Given the description of an element on the screen output the (x, y) to click on. 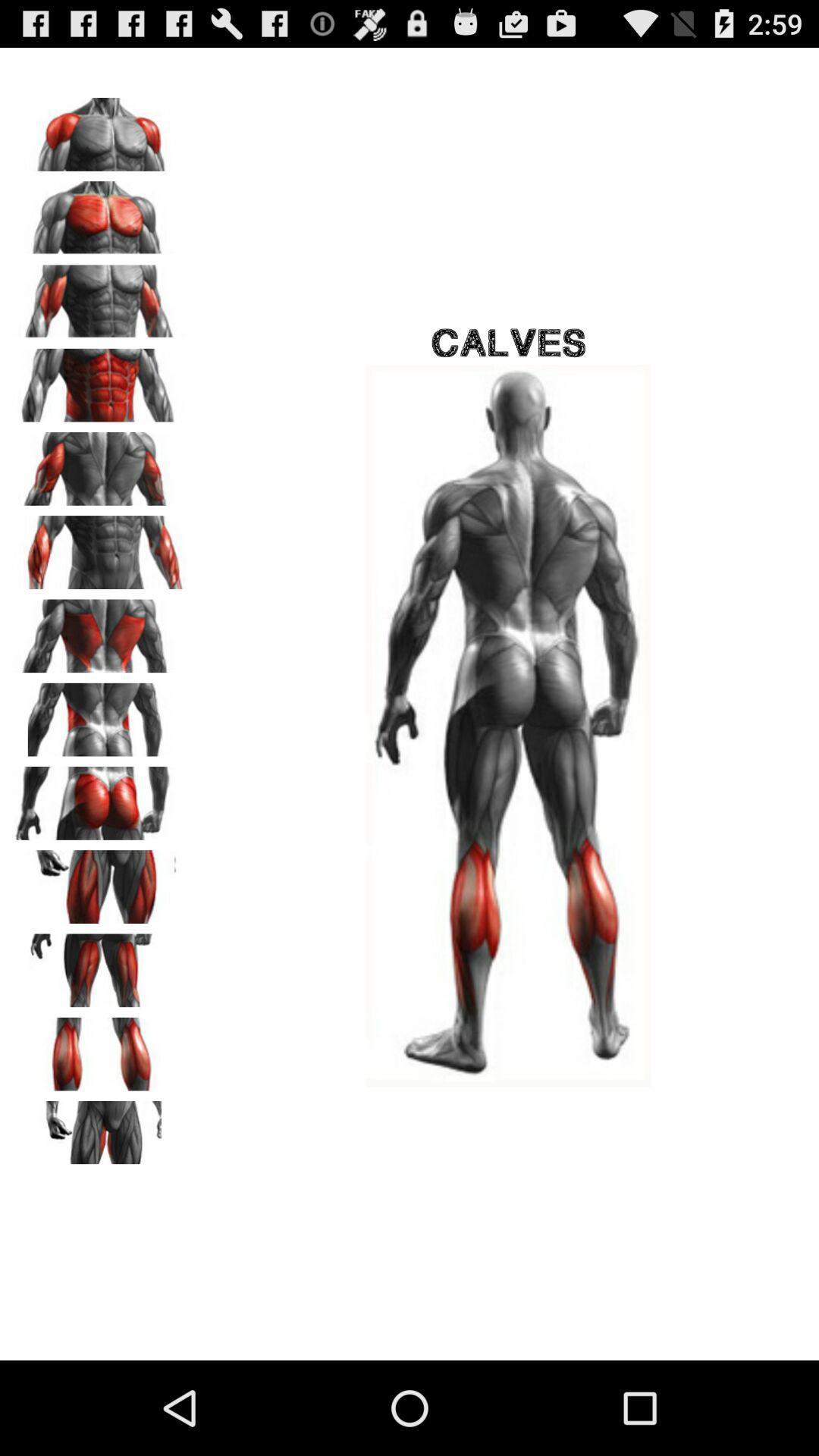
choose option (99, 881)
